Given the description of an element on the screen output the (x, y) to click on. 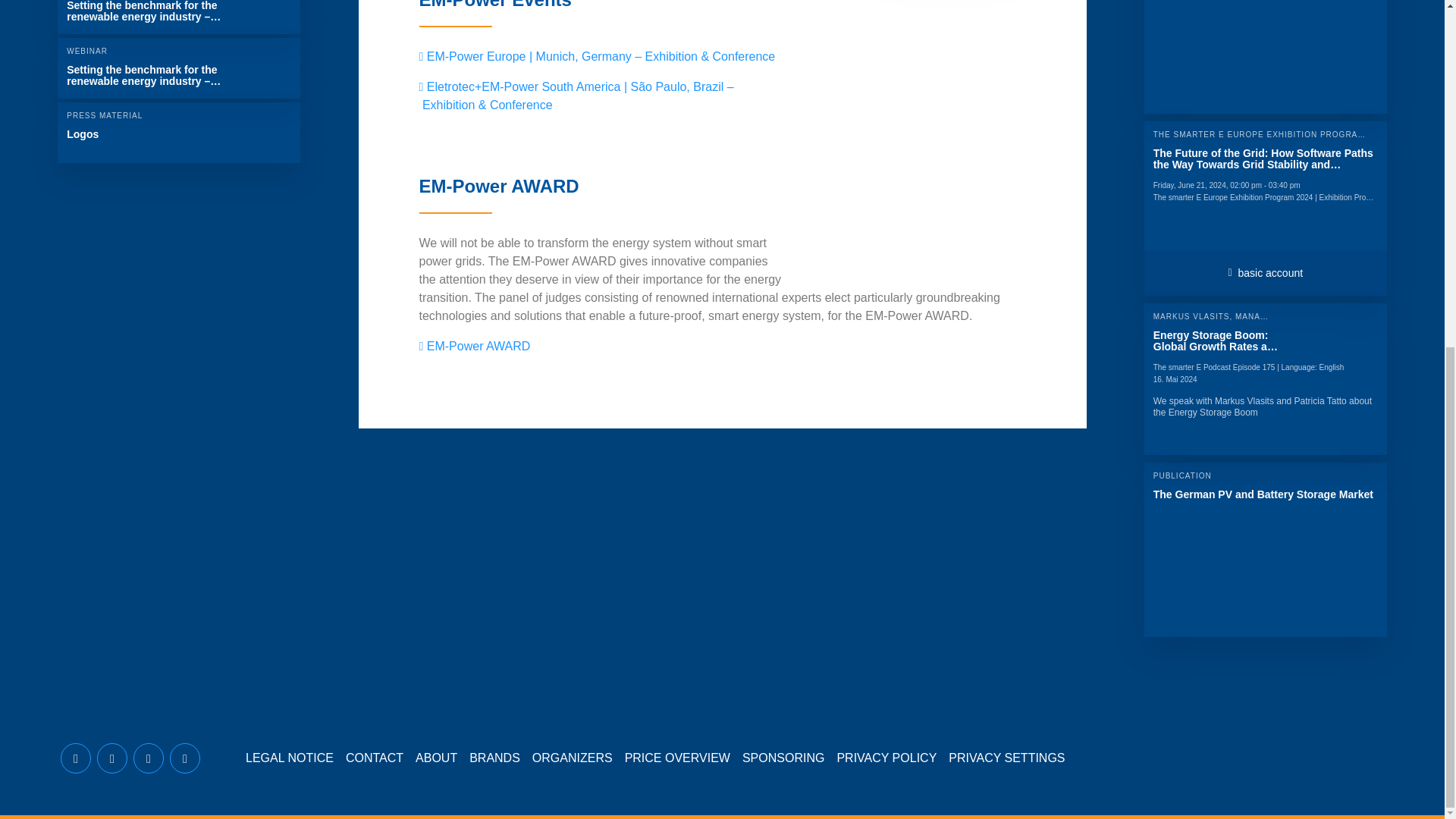
LEGAL NOTICE (289, 757)
EM-Power AWARD (1265, 549)
